Given the description of an element on the screen output the (x, y) to click on. 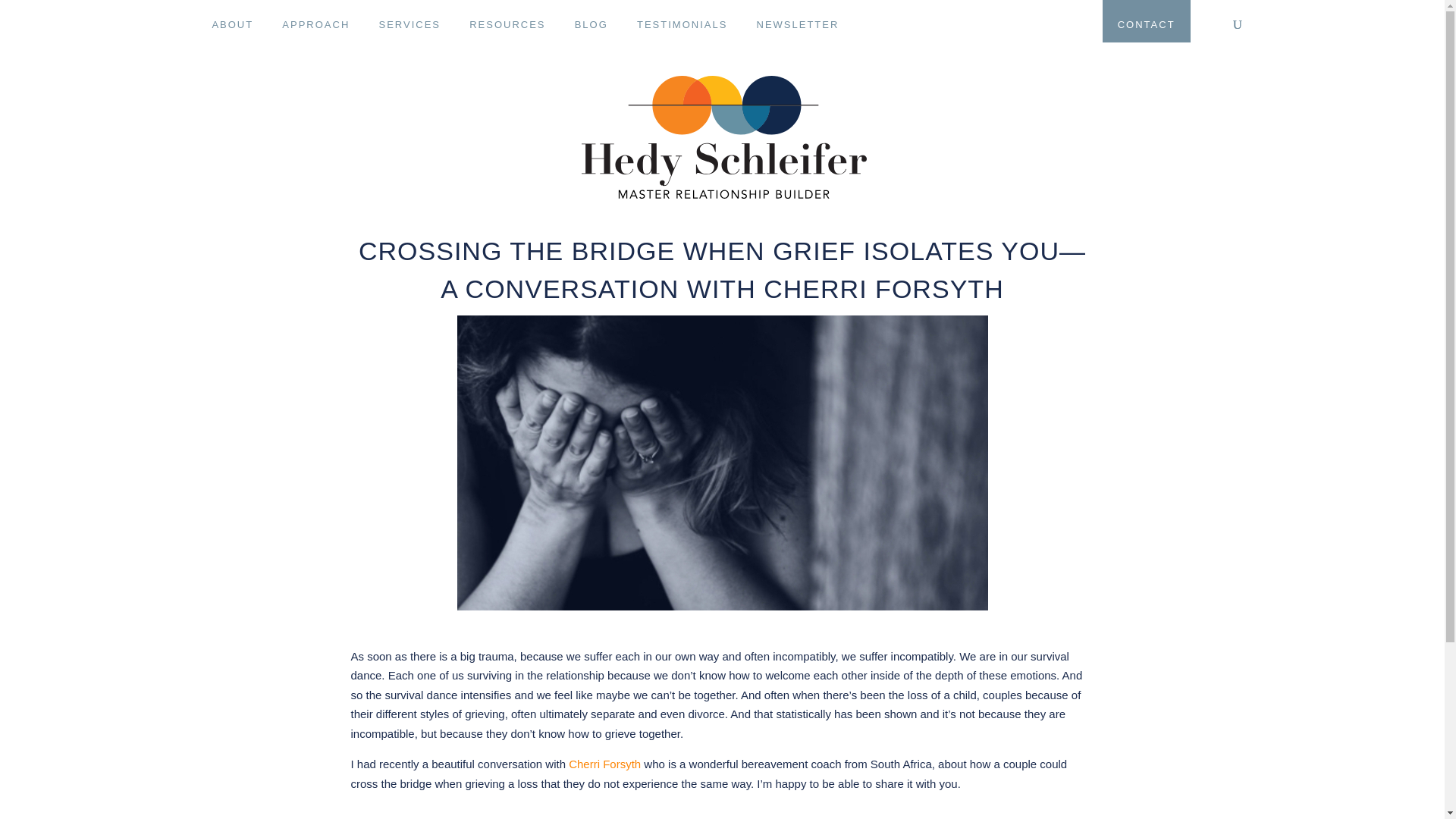
ABOUT (232, 24)
SERVICES (409, 24)
TESTIMONIALS (681, 24)
NEWSLETTER (798, 24)
APPROACH (315, 24)
RESOURCES (506, 24)
Cherri Forsyth (604, 763)
BLOG (591, 24)
CONTACT (1146, 24)
